Given the description of an element on the screen output the (x, y) to click on. 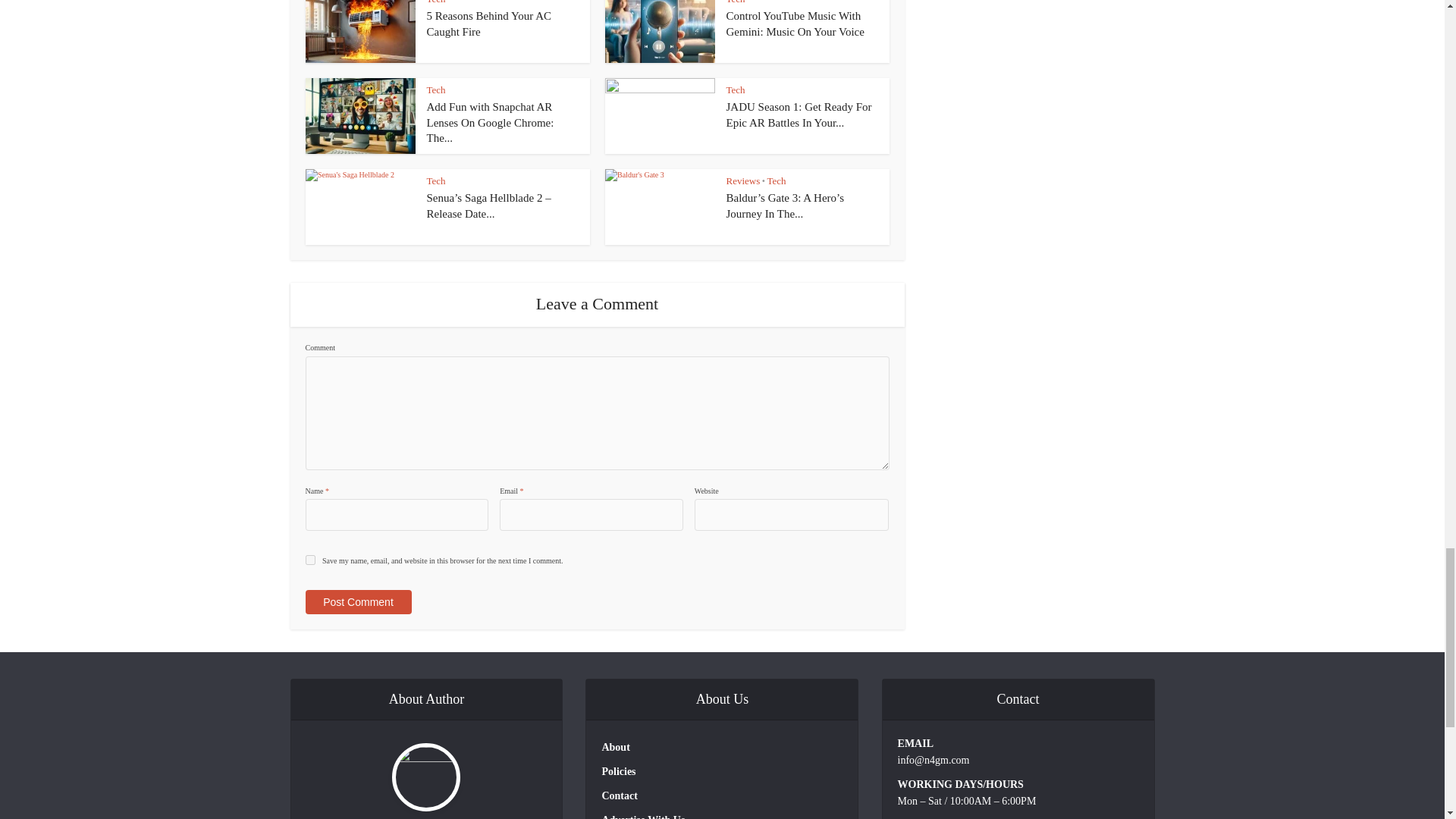
5 Reasons Behind Your AC Caught Fire (488, 22)
Control YouTube Music With Gemini: Music On Your Voice (795, 22)
yes (309, 560)
JADU Season 1: Get Ready For Epic AR Battles In Your Room (799, 113)
Post Comment (357, 601)
